Given the description of an element on the screen output the (x, y) to click on. 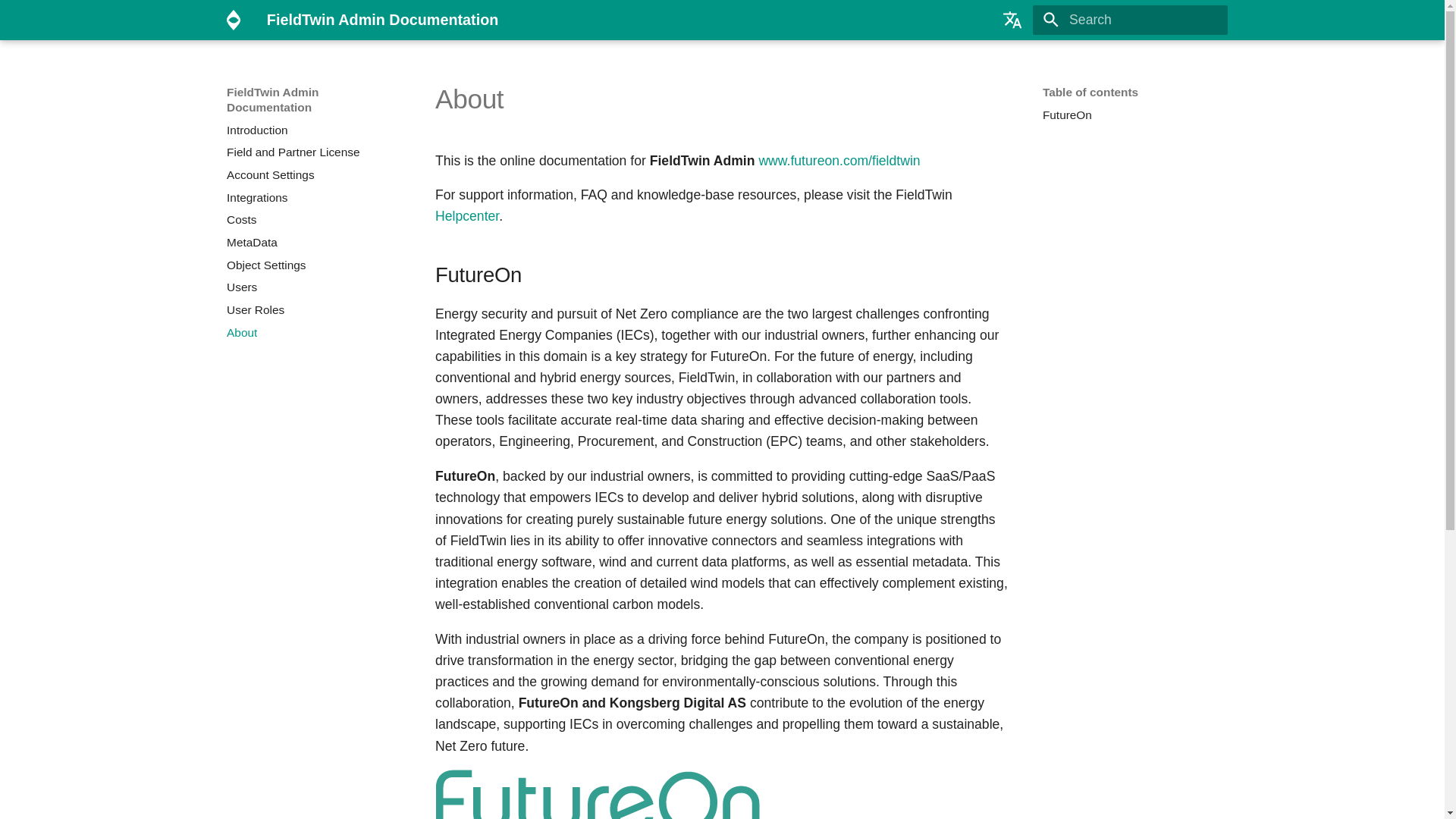
About (314, 332)
Integrations (314, 197)
Helpcenter (467, 215)
MetaData (314, 242)
User Roles (314, 309)
Account Settings (314, 174)
Costs (314, 219)
Users (314, 287)
Field and Partner License (314, 151)
Object Settings (314, 264)
